Given the description of an element on the screen output the (x, y) to click on. 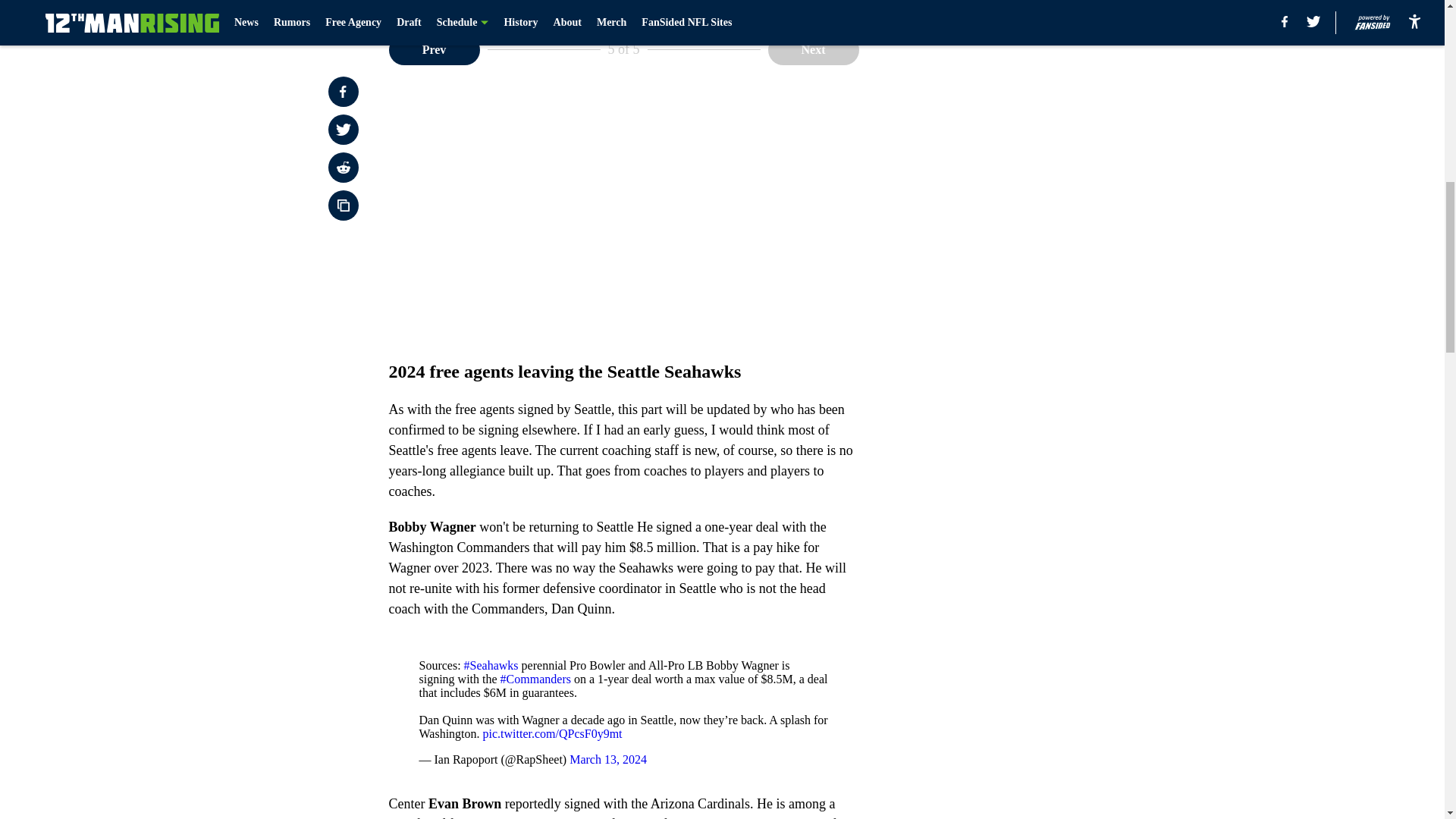
Prev (433, 50)
Next (813, 50)
March 13, 2024 (607, 758)
